Given the description of an element on the screen output the (x, y) to click on. 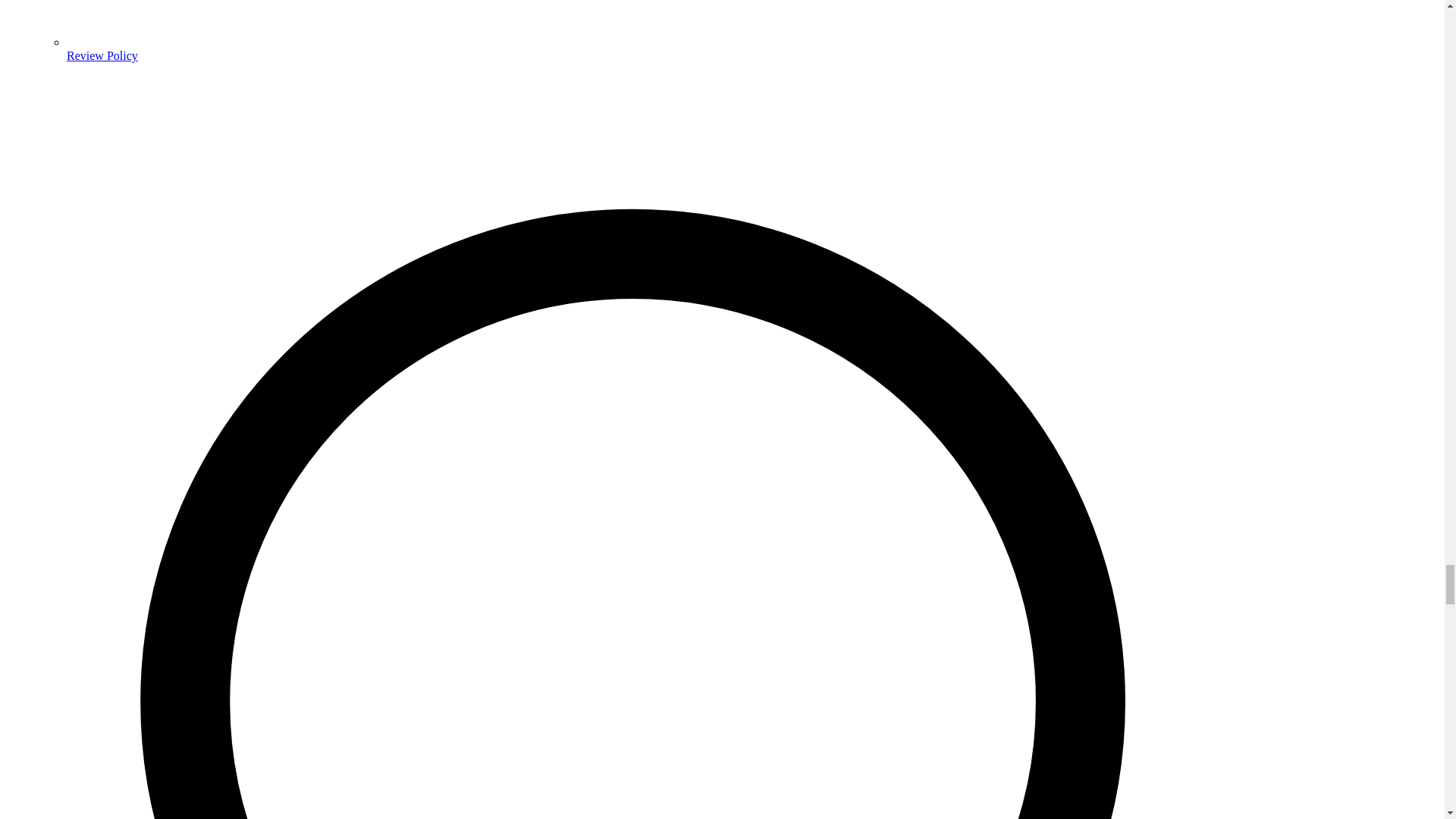
Review Policy (102, 55)
